Given the description of an element on the screen output the (x, y) to click on. 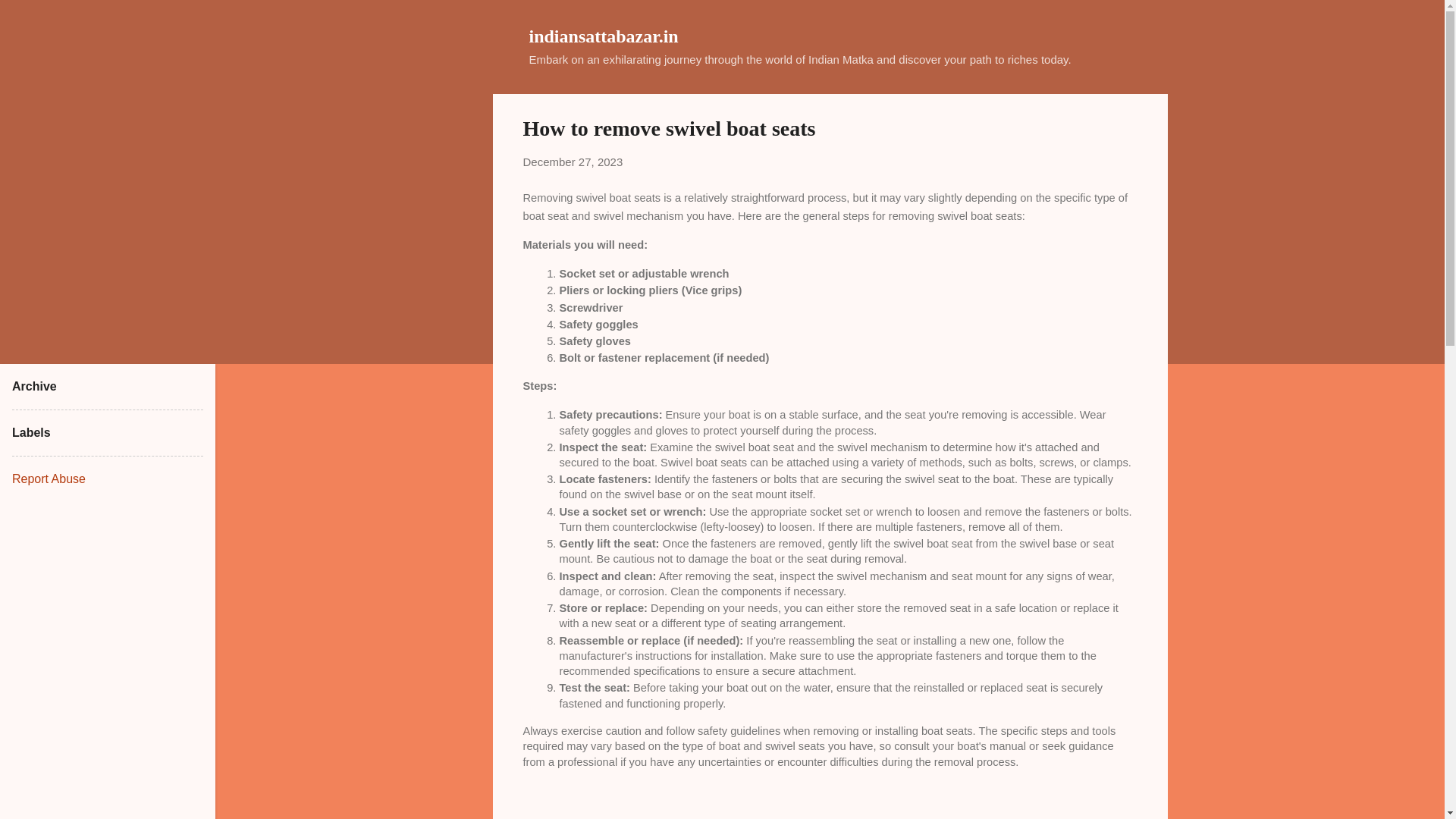
indiansattabazar.in (603, 35)
Search (29, 18)
December 27, 2023 (572, 161)
permanent link (572, 161)
